Given the description of an element on the screen output the (x, y) to click on. 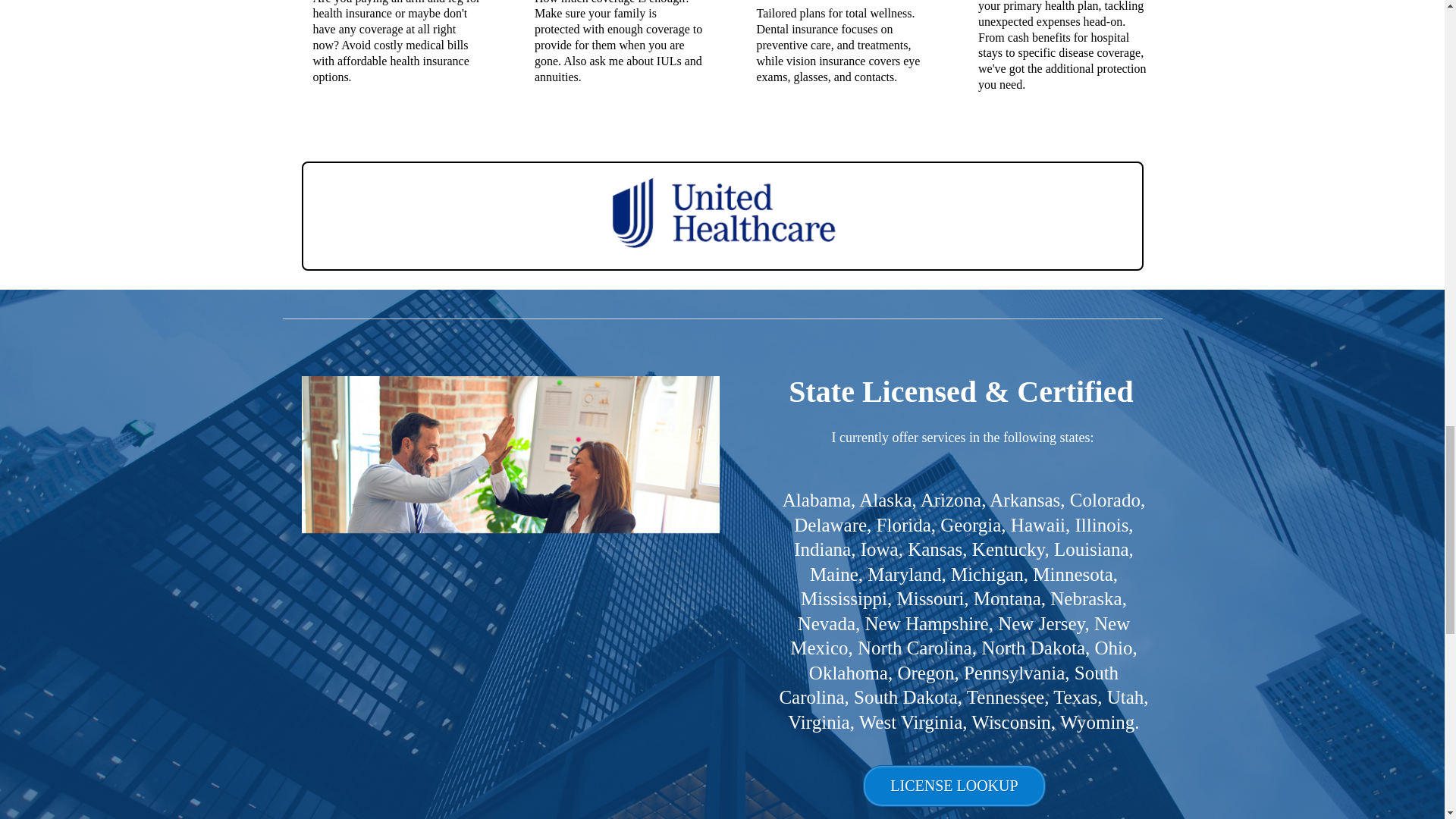
LICENSE LOOKUP (954, 785)
